Given the description of an element on the screen output the (x, y) to click on. 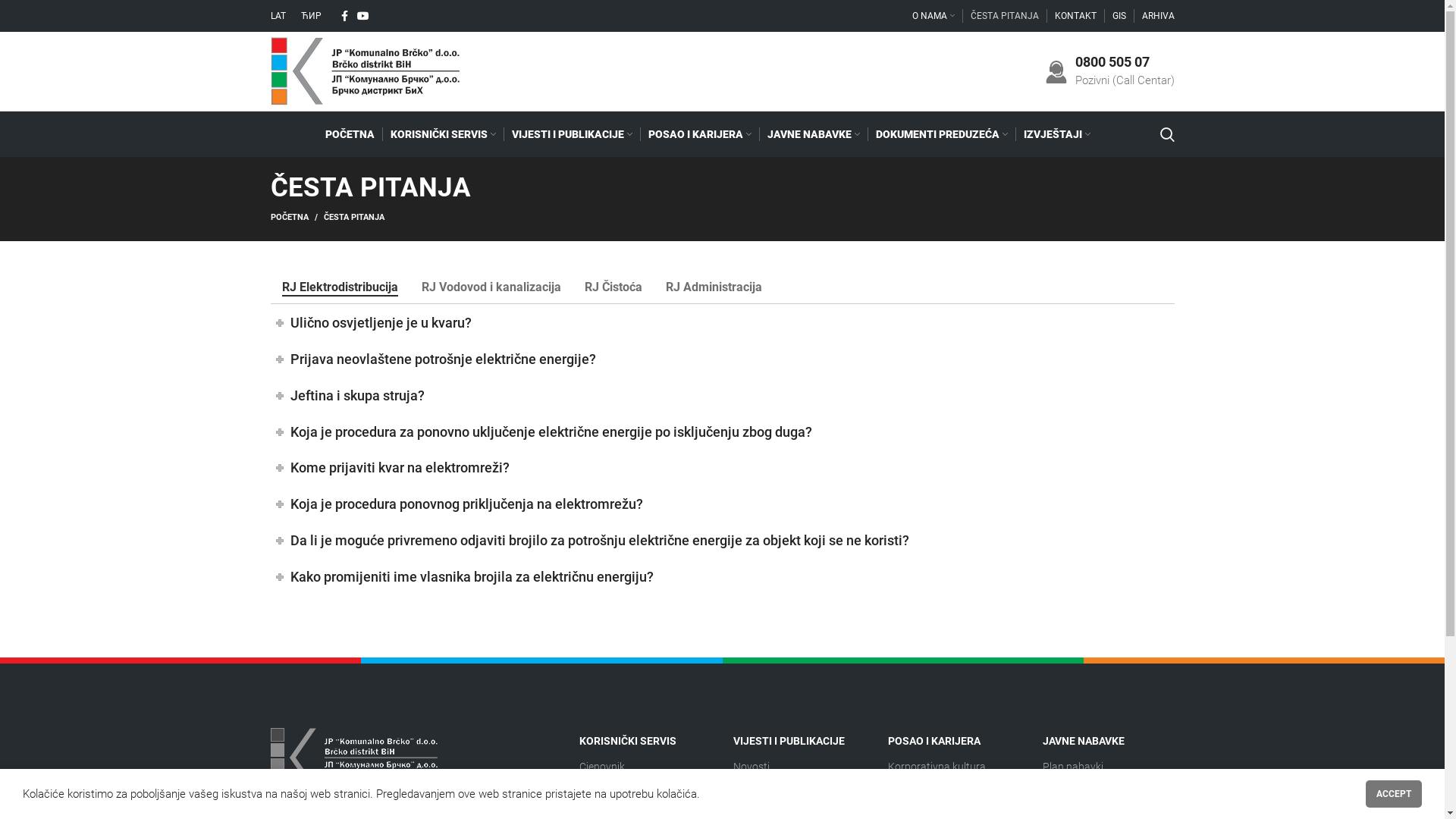
Korporativna kultura Element type: text (953, 766)
POSAO I KARIJERA Element type: text (953, 740)
O NAMA Element type: text (932, 15)
logo_footer Element type: hover (352, 757)
RJ Vodovod i kanalizacija Element type: text (490, 287)
VIJESTI I PUBLIKACIJE Element type: text (571, 134)
VIJESTI I PUBLIKACIJE Element type: text (799, 740)
Plan nabavki Element type: text (1108, 766)
GIS Element type: text (1118, 15)
Odluke o izboru Element type: text (1108, 793)
Zaposleni Element type: text (953, 793)
RJ Elektrodistribucija Element type: text (338, 287)
RJ Administracija Element type: text (712, 287)
JAVNE NABAVKE Element type: text (813, 134)
Novosti Element type: text (799, 766)
0800 505 07
Pozivni (Call Centar) Element type: text (1109, 70)
ARHIVA Element type: text (1158, 15)
Cjenovnik Element type: text (645, 766)
JAVNE NABAVKE Element type: text (1108, 740)
POSAO I KARIJERA Element type: text (699, 134)
KONTAKT Element type: text (1074, 15)
Search Element type: hover (1167, 134)
LAT Element type: text (277, 15)
ACCEPT Element type: text (1393, 793)
